Given the description of an element on the screen output the (x, y) to click on. 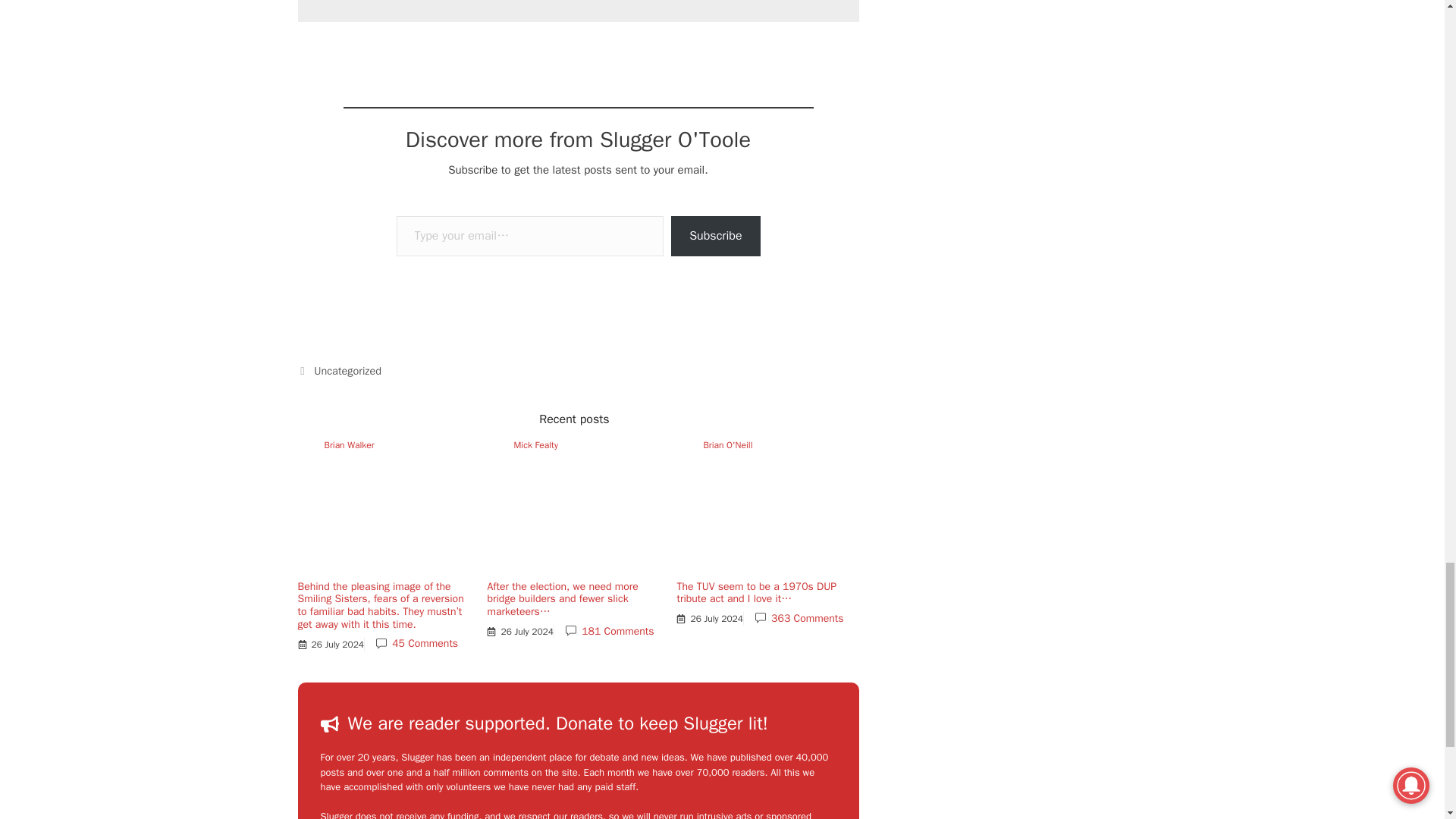
Please fill in this field. (529, 236)
